Given the description of an element on the screen output the (x, y) to click on. 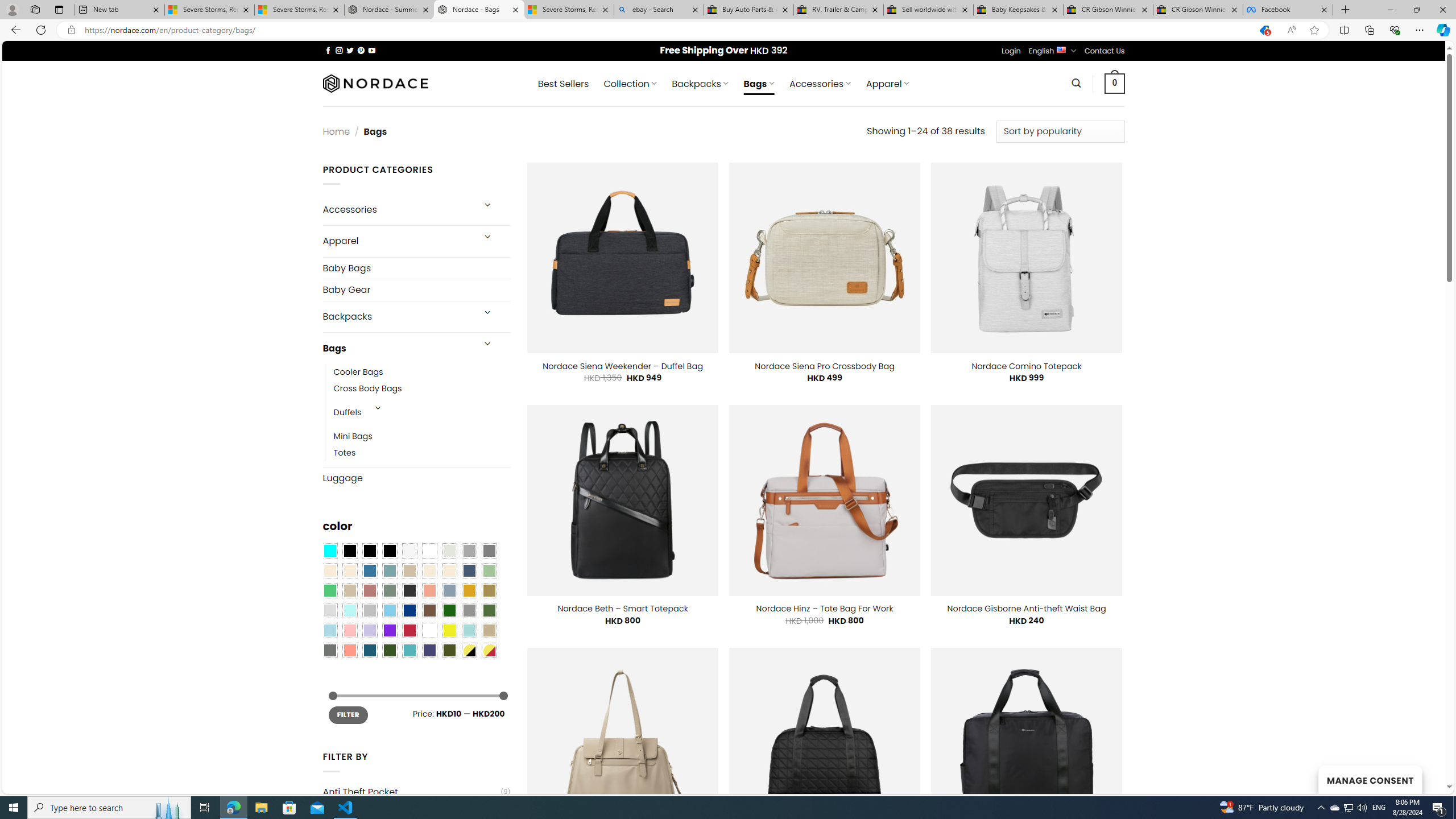
Cream (449, 570)
Brownie (408, 570)
Pink (349, 630)
Brown (429, 610)
Sage (389, 590)
All Black (349, 550)
